Given the description of an element on the screen output the (x, y) to click on. 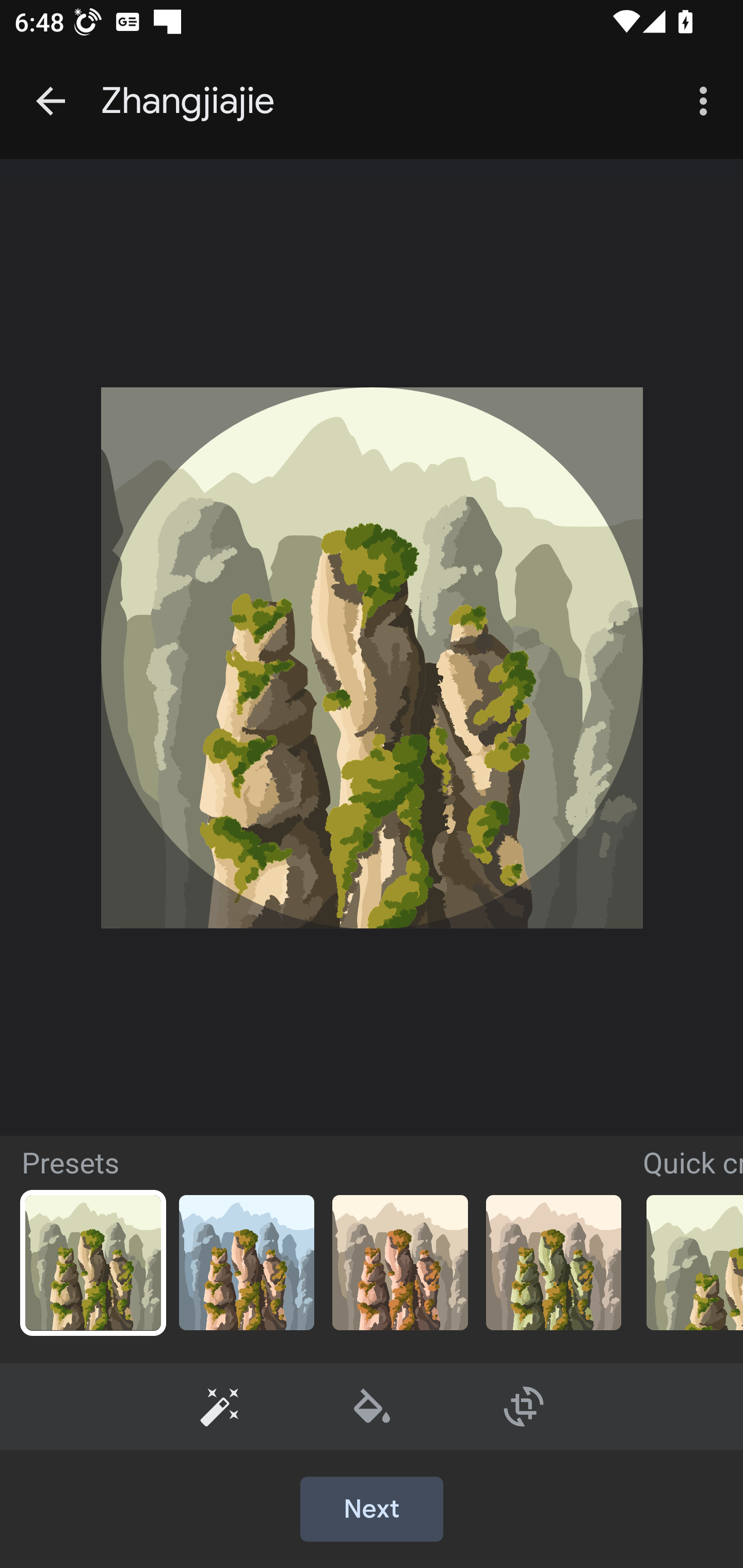
Navigate up (50, 101)
More options (706, 101)
Presets (220, 1406)
Colorize (372, 1406)
Crop (523, 1406)
Next (371, 1509)
